Given the description of an element on the screen output the (x, y) to click on. 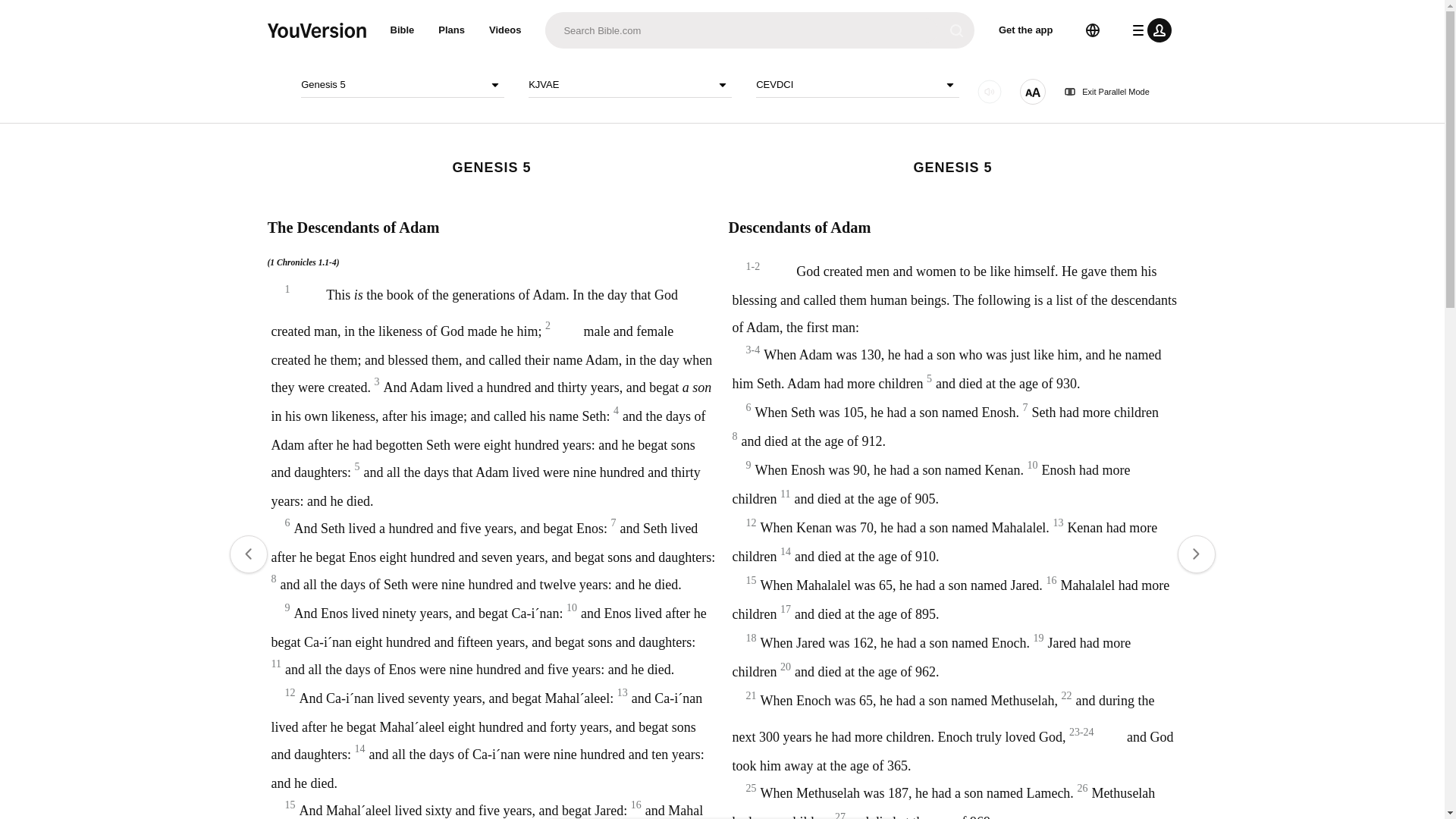
Exit Parallel Mode (1107, 91)
Plans (451, 29)
Get the app (1026, 29)
Genesis 5 (402, 84)
Videos (504, 29)
KJVAE (630, 84)
CEVDCI (857, 84)
Bible (401, 29)
